Given the description of an element on the screen output the (x, y) to click on. 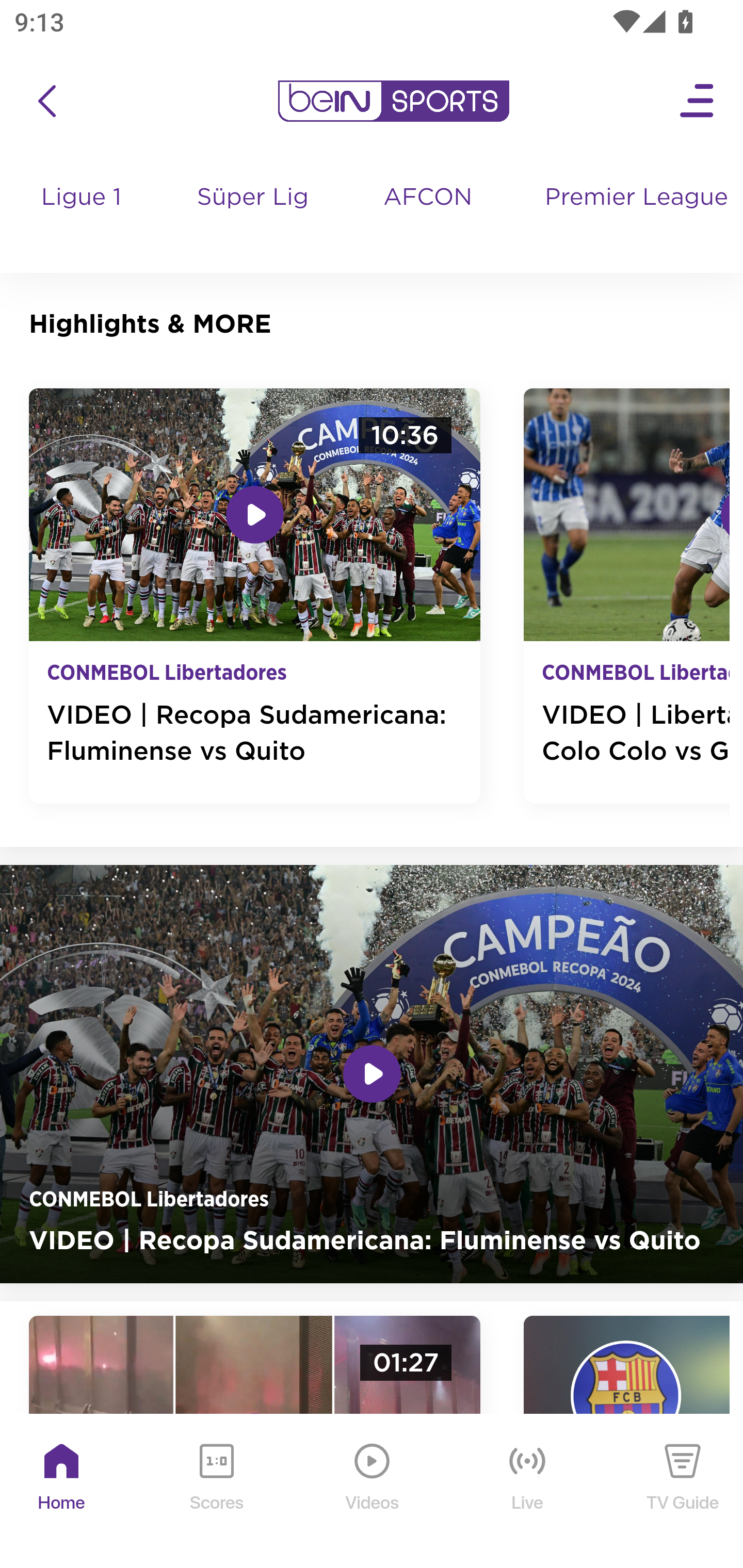
en-us?platform=mobile_android bein logo (392, 101)
icon back (46, 101)
Open Menu Icon (697, 101)
Ligue 1 (83, 216)
Süper Lig (253, 216)
AFCON (427, 198)
Premier League (636, 198)
Home Home Icon Home (61, 1491)
Scores Scores Icon Scores (216, 1491)
Videos Videos Icon Videos (372, 1491)
TV Guide TV Guide Icon TV Guide (682, 1491)
